Given the description of an element on the screen output the (x, y) to click on. 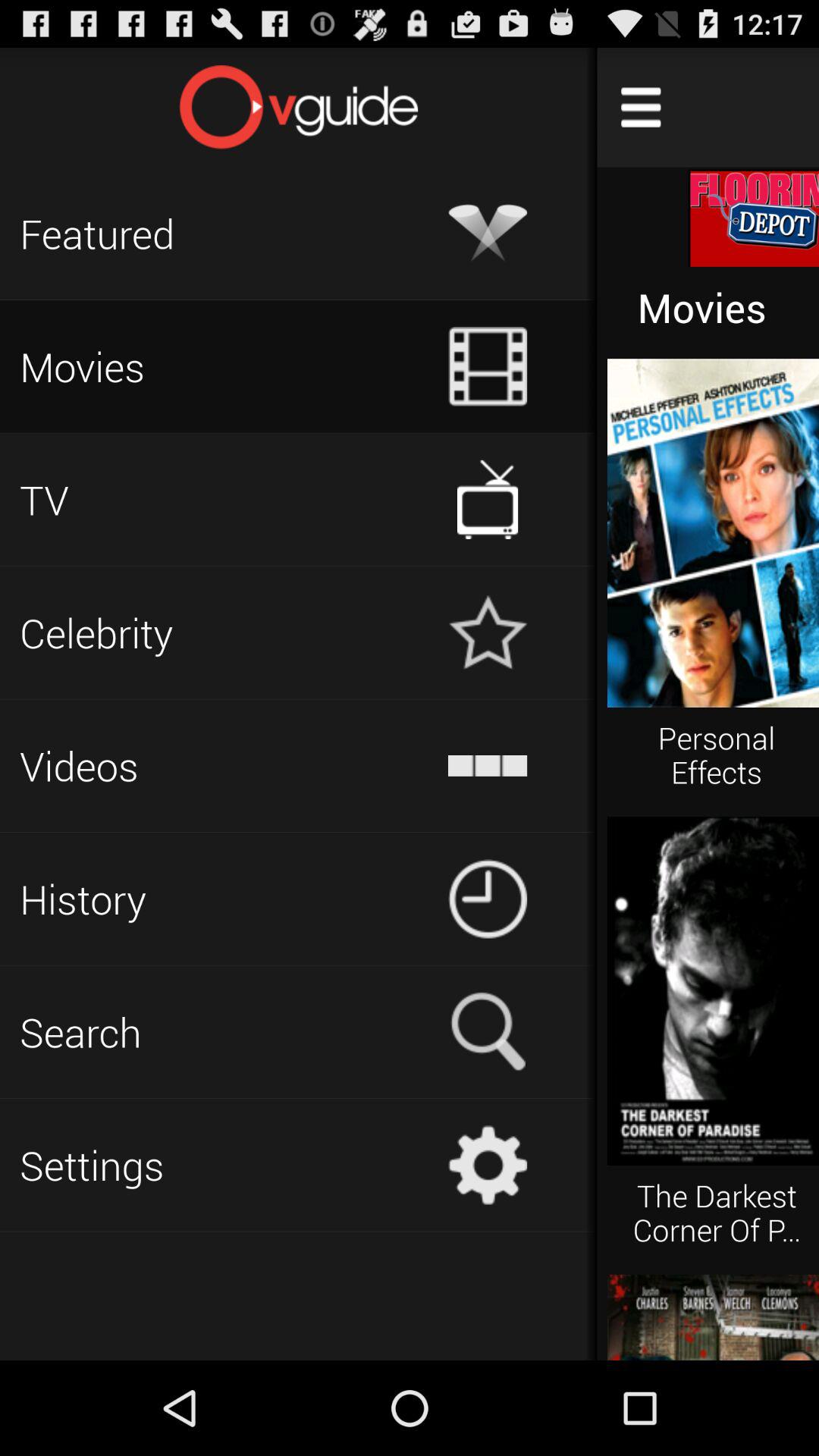
go to menu (640, 107)
